Given the description of an element on the screen output the (x, y) to click on. 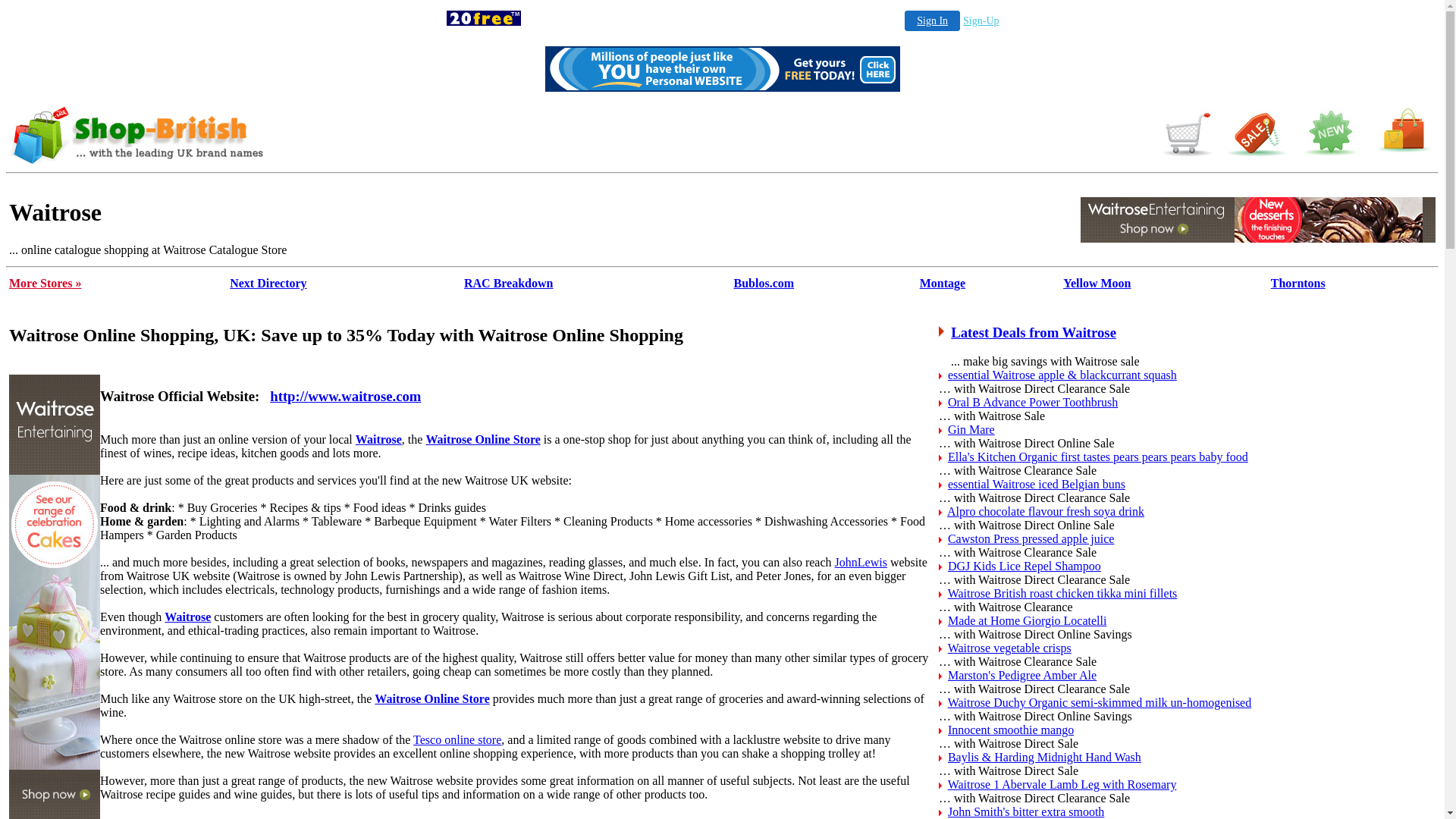
Waitrose vegetable crisps Element type: text (1009, 647)
Waitrose British roast chicken tikka mini fillets Element type: text (1062, 592)
RAC Breakdown Element type: text (508, 282)
Shop British Element type: hover (148, 159)
Sign-Up Element type: text (980, 20)
Waitrose 1 Abervale Lamb Leg with Rosemary Element type: text (1061, 784)
Gin Mare Element type: text (970, 429)
Made at Home Giorgio Locatelli Element type: text (1026, 620)
Shop British Element type: hover (1183, 156)
Waitrose Element type: text (187, 616)
Waitrose Direct Element type: hover (722, 134)
Next Directory Element type: text (267, 282)
essential Waitrose iced Belgian buns Element type: text (1036, 483)
Yellow Moon Element type: text (1096, 282)
essential Waitrose apple & blackcurrant squash Element type: text (1061, 374)
John Smith's bitter extra smooth Element type: text (1025, 811)
Waitrose Catalogue Element type: hover (1257, 238)
DGJ Kids Lice Repel Shampoo Element type: text (1024, 565)
Bublos.com Element type: text (764, 282)
Waitrose Online Store Element type: text (482, 439)
Waitrose Element type: text (378, 439)
JohnLewis Element type: text (860, 561)
Innocent smoothie mango Element type: text (1010, 729)
Waitrose Duchy Organic semi-skimmed milk un-homogenised Element type: text (1099, 702)
Oral B Advance Power Toothbrush Element type: text (1032, 401)
Cawston Press pressed apple juice Element type: text (1030, 538)
Marston's Pedigree Amber Ale Element type: text (1021, 674)
Waitrose Online Store Element type: text (431, 698)
http://www.waitrose.com Element type: text (344, 396)
Sign In Element type: text (932, 20)
Waitrose Element type: hover (1257, 219)
Montage Element type: text (942, 282)
Latest Deals from Waitrose Element type: text (1033, 332)
Alpro chocolate flavour fresh soya drink Element type: text (1045, 511)
Tesco online store Element type: text (457, 739)
Baylis & Harding Midnight Hand Wash Element type: text (1044, 756)
Thorntons Element type: text (1297, 282)
